Given the description of an element on the screen output the (x, y) to click on. 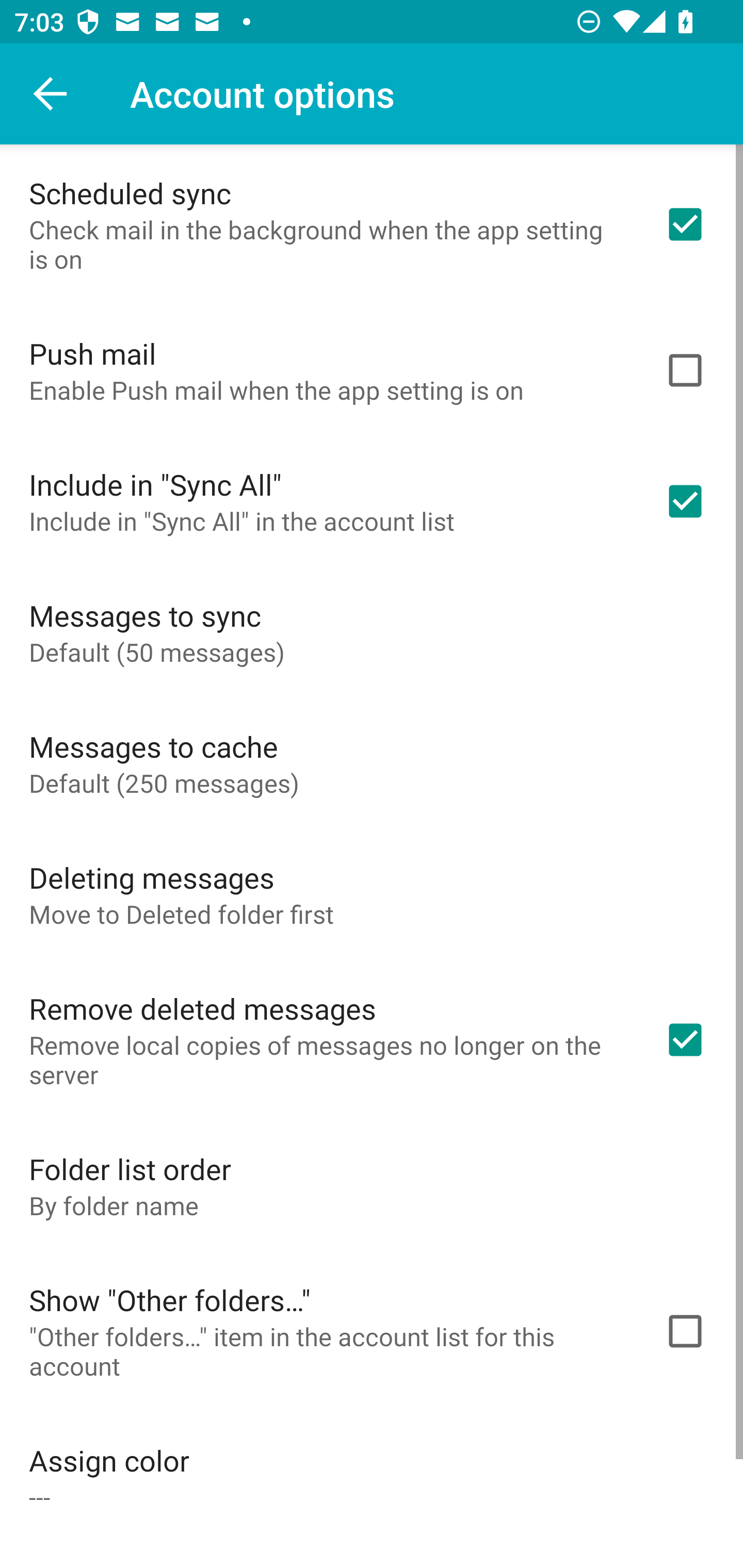
Navigate up (50, 93)
Messages to sync Default (50 messages) (371, 632)
Messages to cache Default (250 messages) (371, 763)
Deleting messages Move to Deleted folder first (371, 894)
Folder list order By folder name (371, 1185)
Assign color --- (371, 1476)
